Given the description of an element on the screen output the (x, y) to click on. 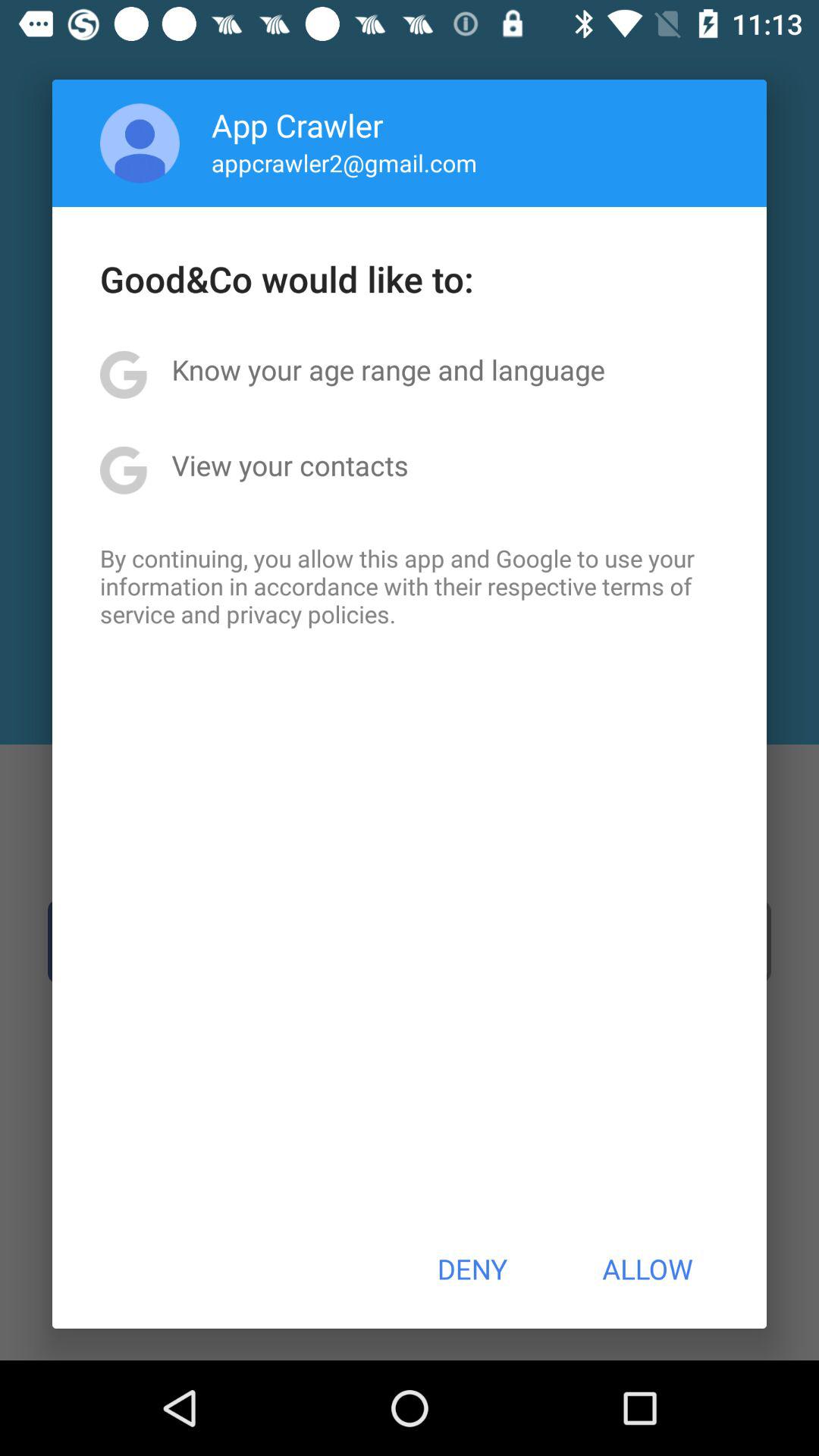
turn off icon above the view your contacts icon (388, 369)
